Given the description of an element on the screen output the (x, y) to click on. 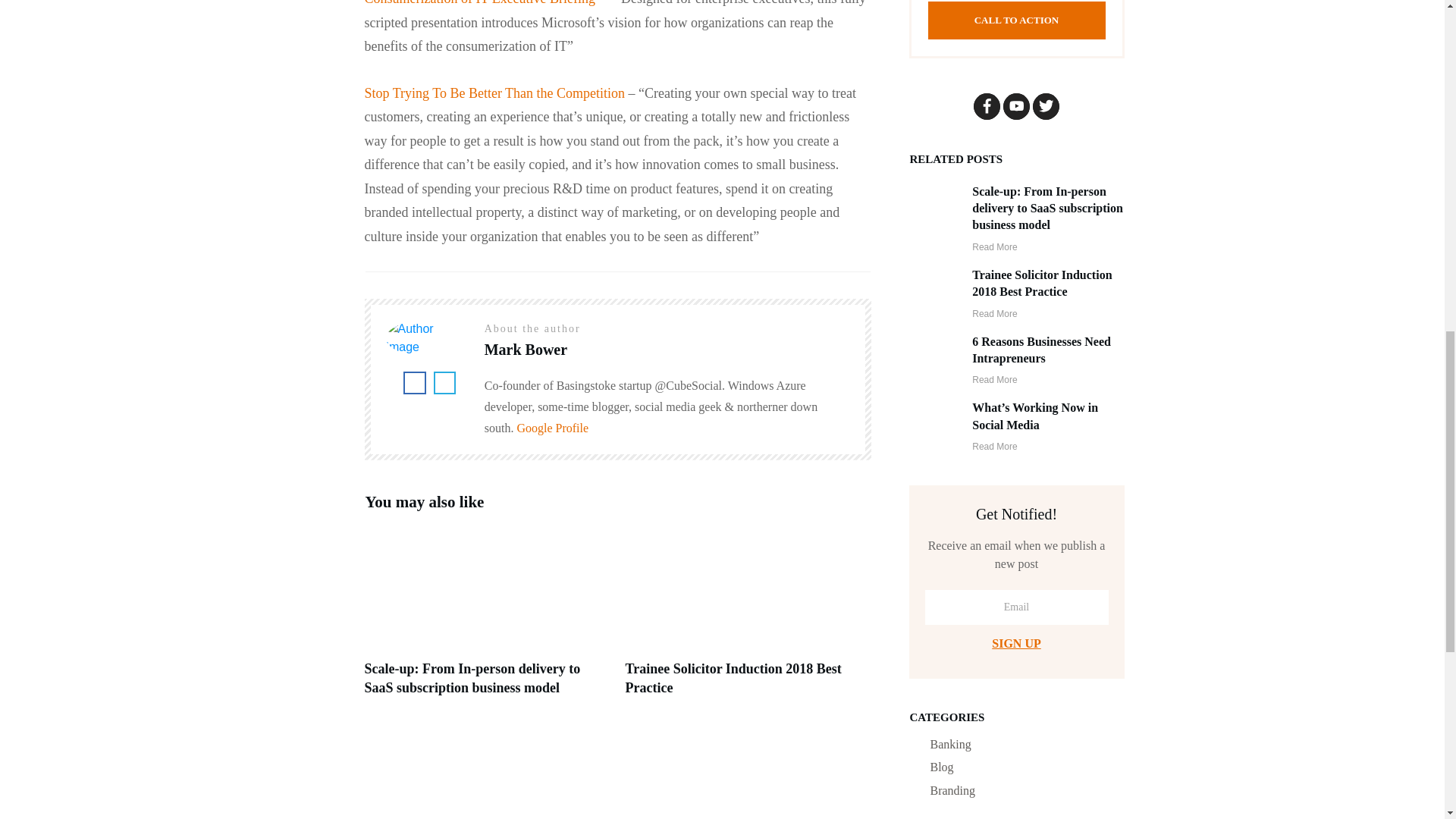
Google Profile (552, 427)
Read More (994, 246)
Read More (994, 313)
Trainee Solicitor Induction 2018 Best Practice (1042, 283)
Consumerization of IT Executive Briefing (479, 2)
Trainee Solicitor Induction 2018 Best Practice (732, 677)
